Given the description of an element on the screen output the (x, y) to click on. 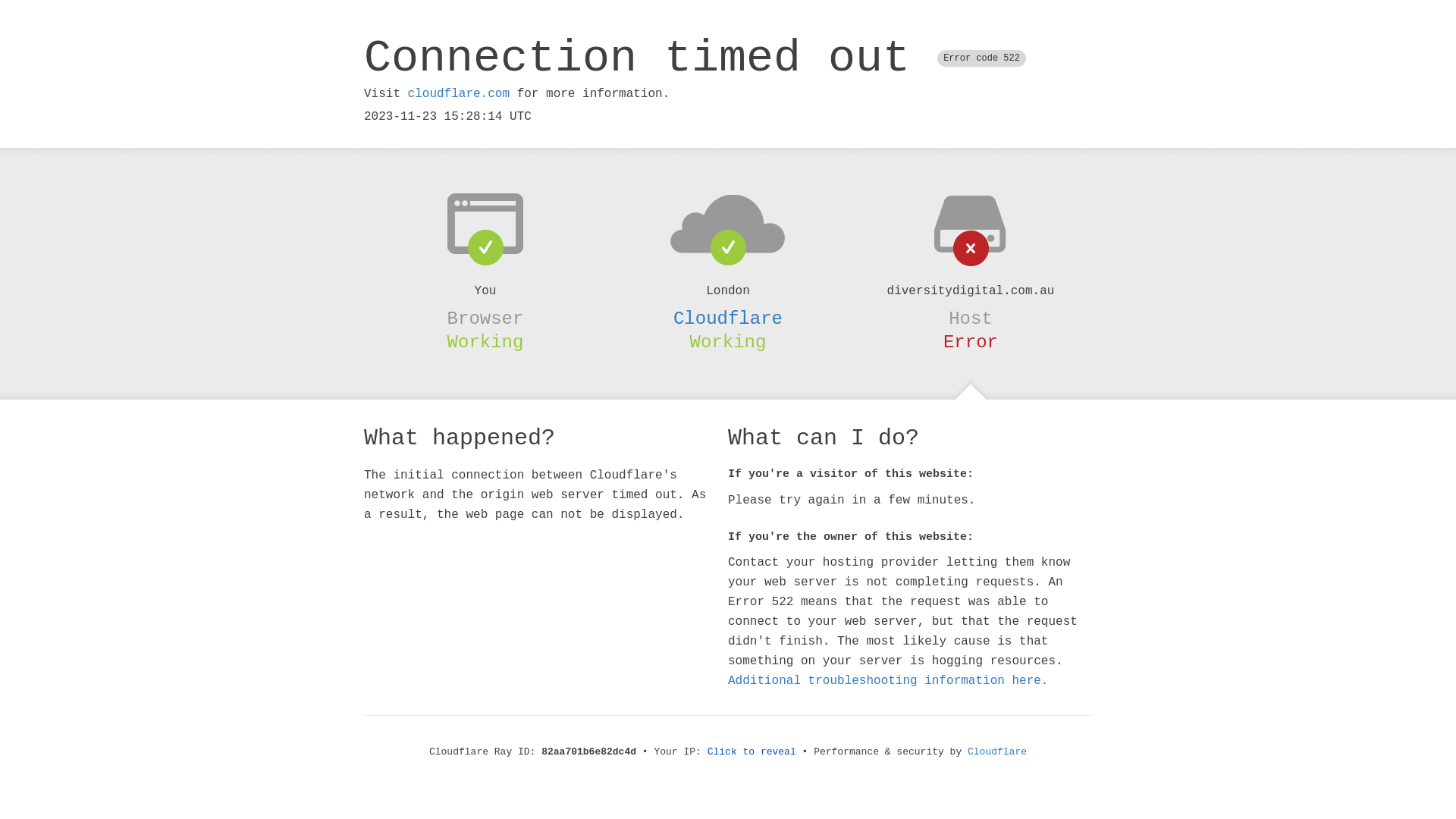
Cloudflare Element type: text (727, 318)
Cloudflare Element type: text (996, 751)
cloudflare.com Element type: text (458, 93)
Click to reveal Element type: text (751, 751)
Additional troubleshooting information here. Element type: text (888, 680)
